Given the description of an element on the screen output the (x, y) to click on. 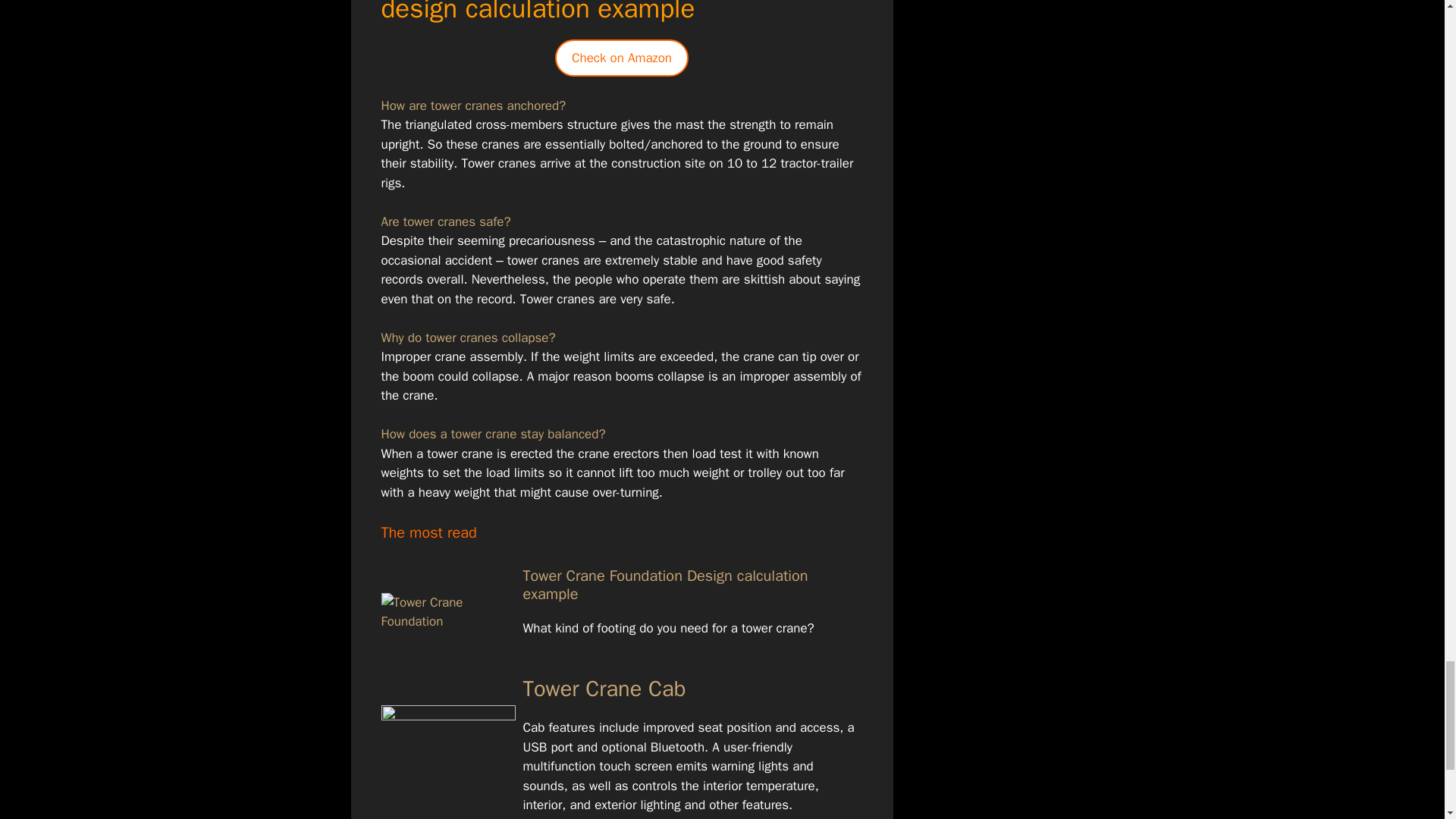
Tower Crane Cab (603, 688)
Check on Amazon (621, 57)
Tower Crane Foundation Design calculation example (665, 584)
